Given the description of an element on the screen output the (x, y) to click on. 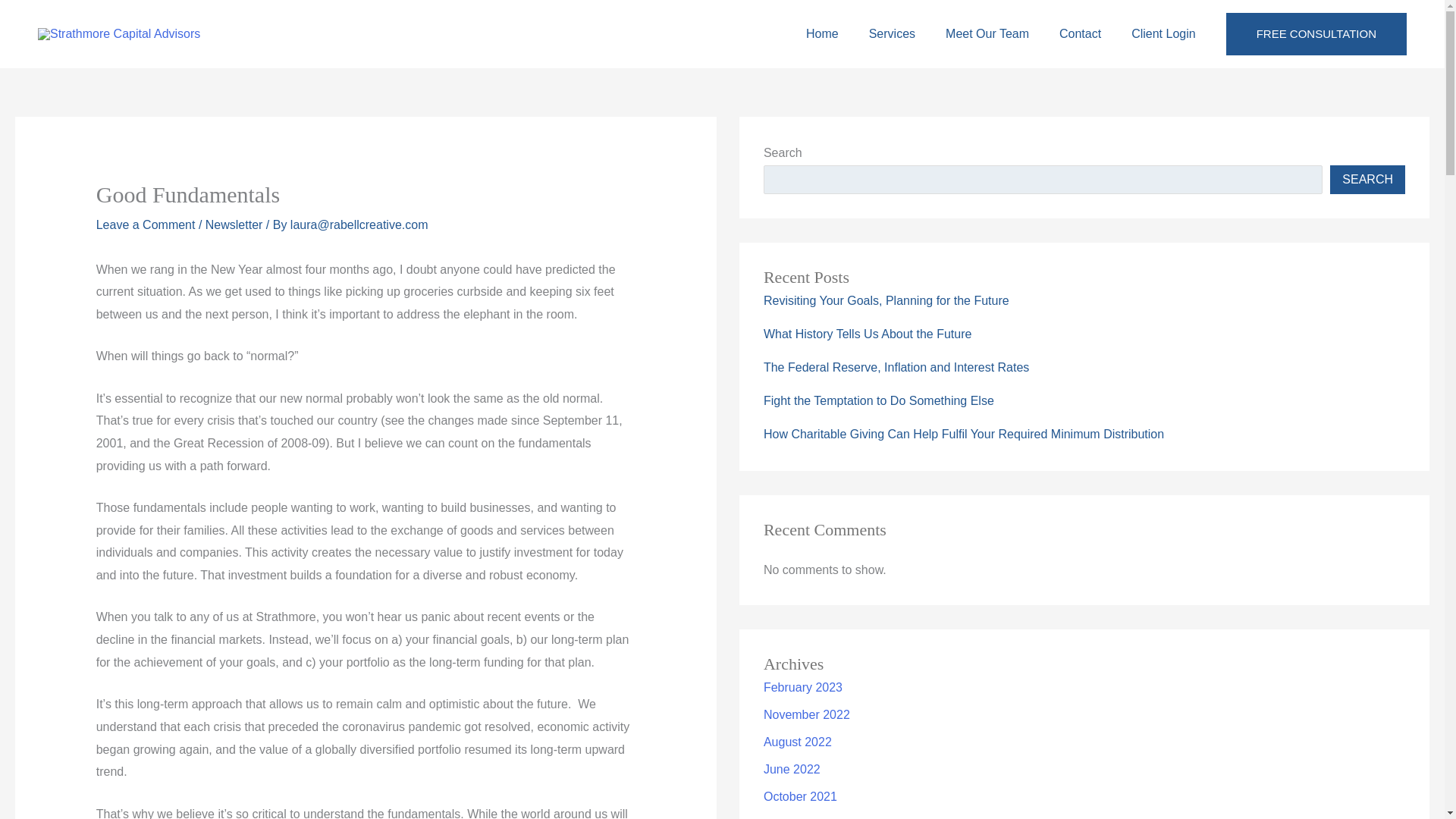
August 2022 (796, 774)
Leave a Comment (145, 256)
SEARCH (1367, 212)
June 2022 (791, 801)
Services (891, 50)
Fight the Temptation to Do Something Else (878, 432)
The Federal Reserve, Inflation and Interest Rates (895, 399)
What History Tells Us About the Future (866, 366)
Revisiting Your Goals, Planning for the Future (885, 332)
